Given the description of an element on the screen output the (x, y) to click on. 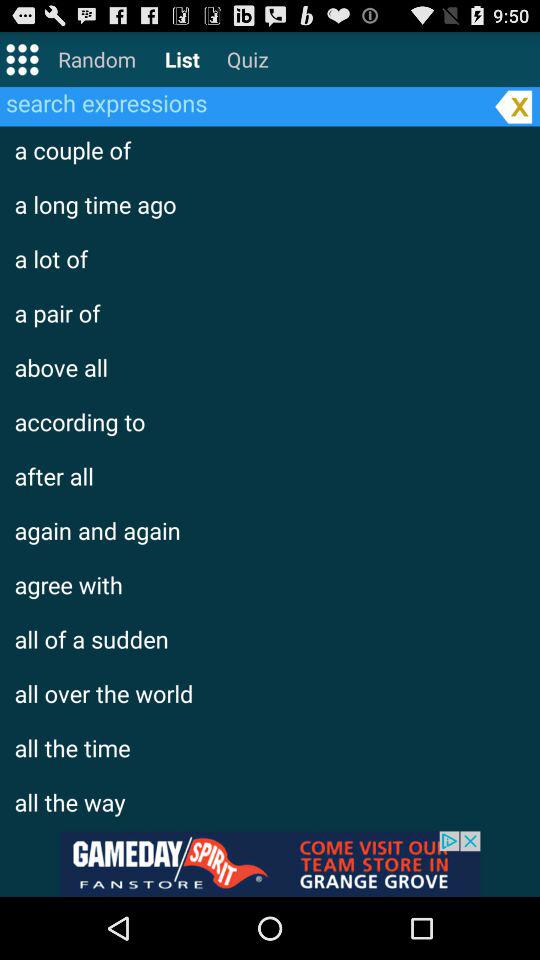
open menu (22, 58)
